Given the description of an element on the screen output the (x, y) to click on. 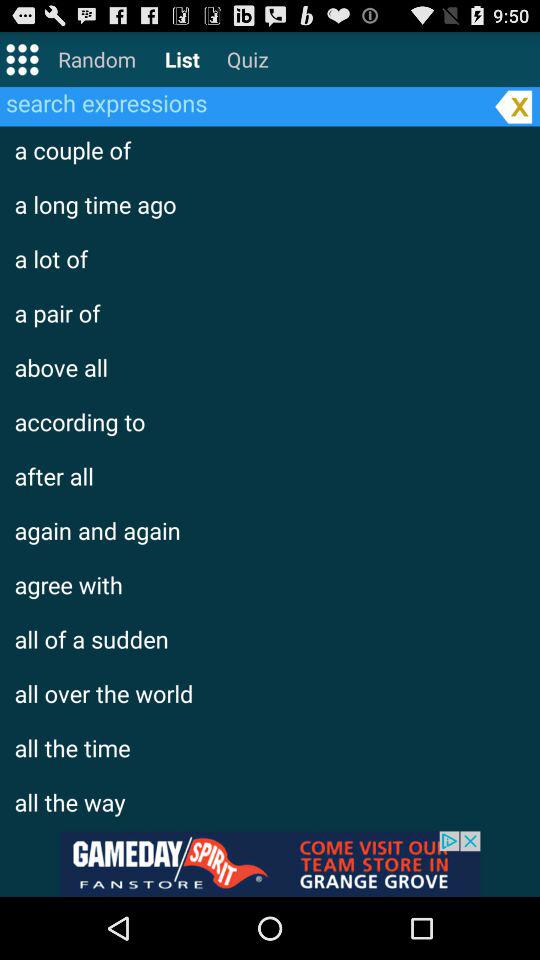
open menu (22, 58)
